Given the description of an element on the screen output the (x, y) to click on. 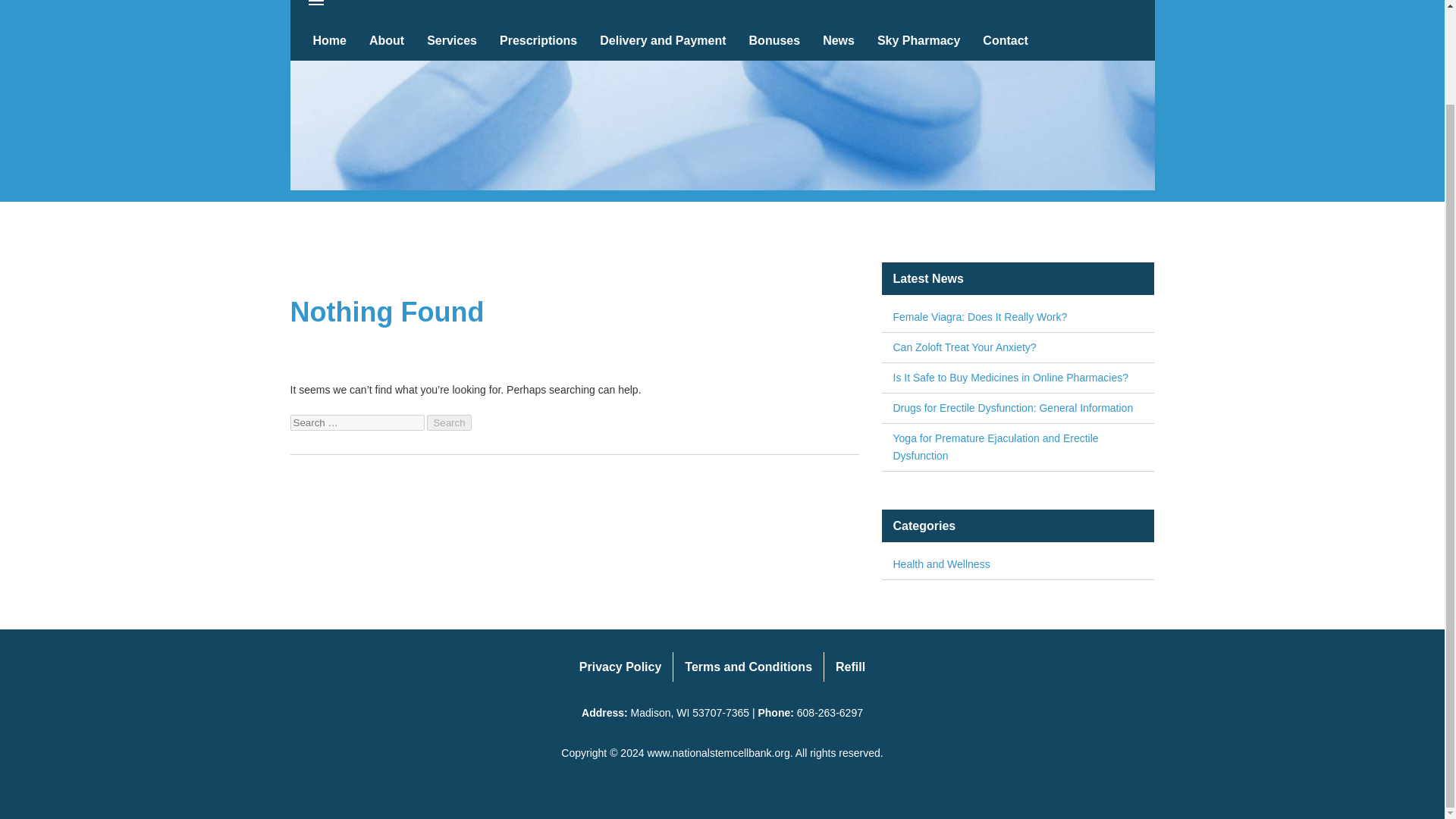
Can Zoloft Treat Your Anxiety? (1017, 347)
News (838, 40)
Delivery and Payment (662, 40)
Is It Safe to Buy Medicines in Online Pharmacies? (1017, 378)
Yoga for Premature Ejaculation and Erectile Dysfunction (1017, 447)
Services (450, 40)
Prescriptions (537, 40)
Terms and Conditions (748, 665)
Contact (1005, 40)
Privacy Policy (619, 665)
